Given the description of an element on the screen output the (x, y) to click on. 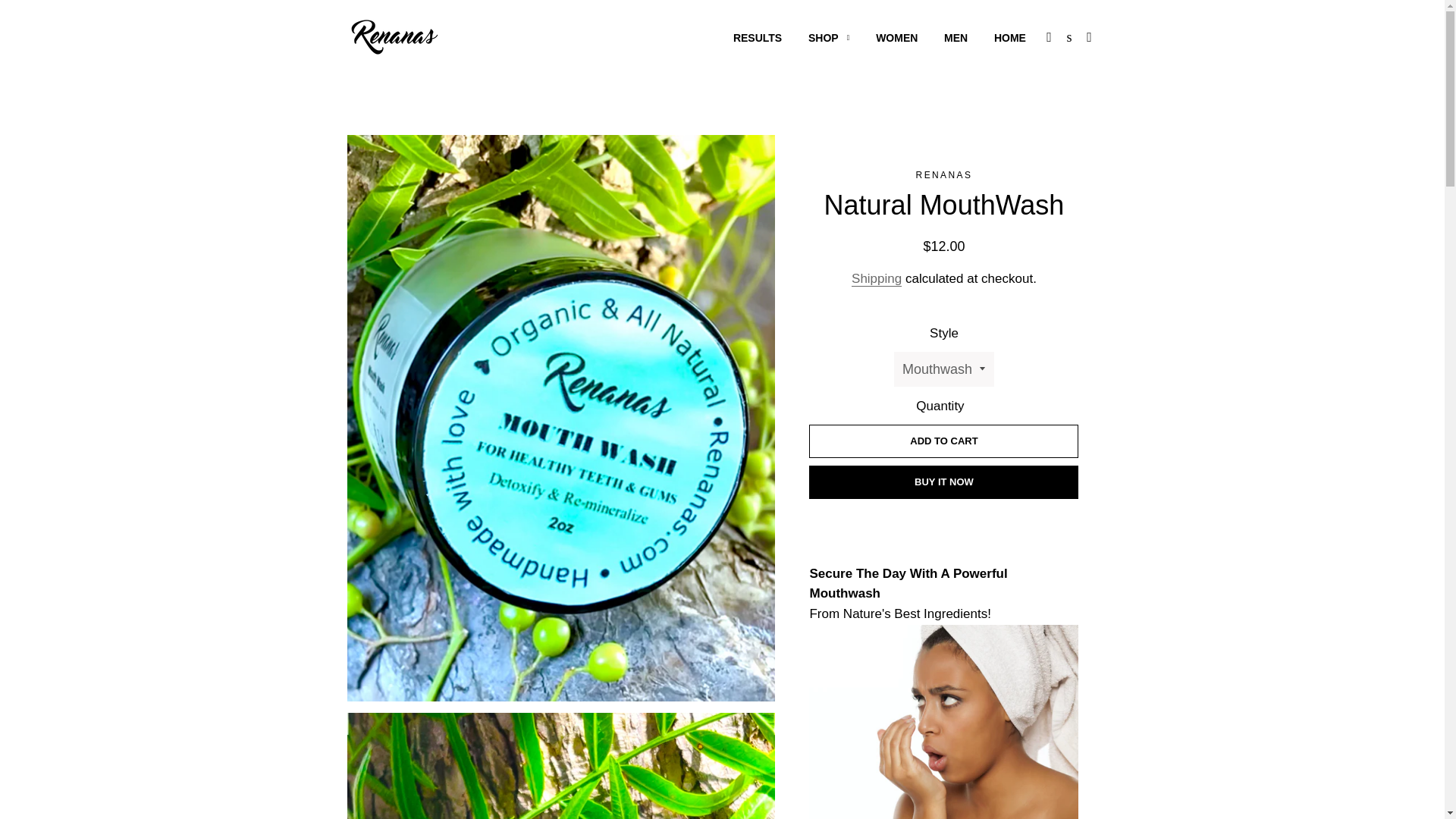
WOMEN (896, 38)
RESULTS (757, 38)
LOG IN (1049, 36)
SEARCH (1069, 36)
MEN (955, 38)
ADD TO CART (943, 441)
CART (1089, 36)
Shipping (876, 278)
SHOP (828, 38)
HOME (1009, 38)
BUY IT NOW (943, 482)
